Given the description of an element on the screen output the (x, y) to click on. 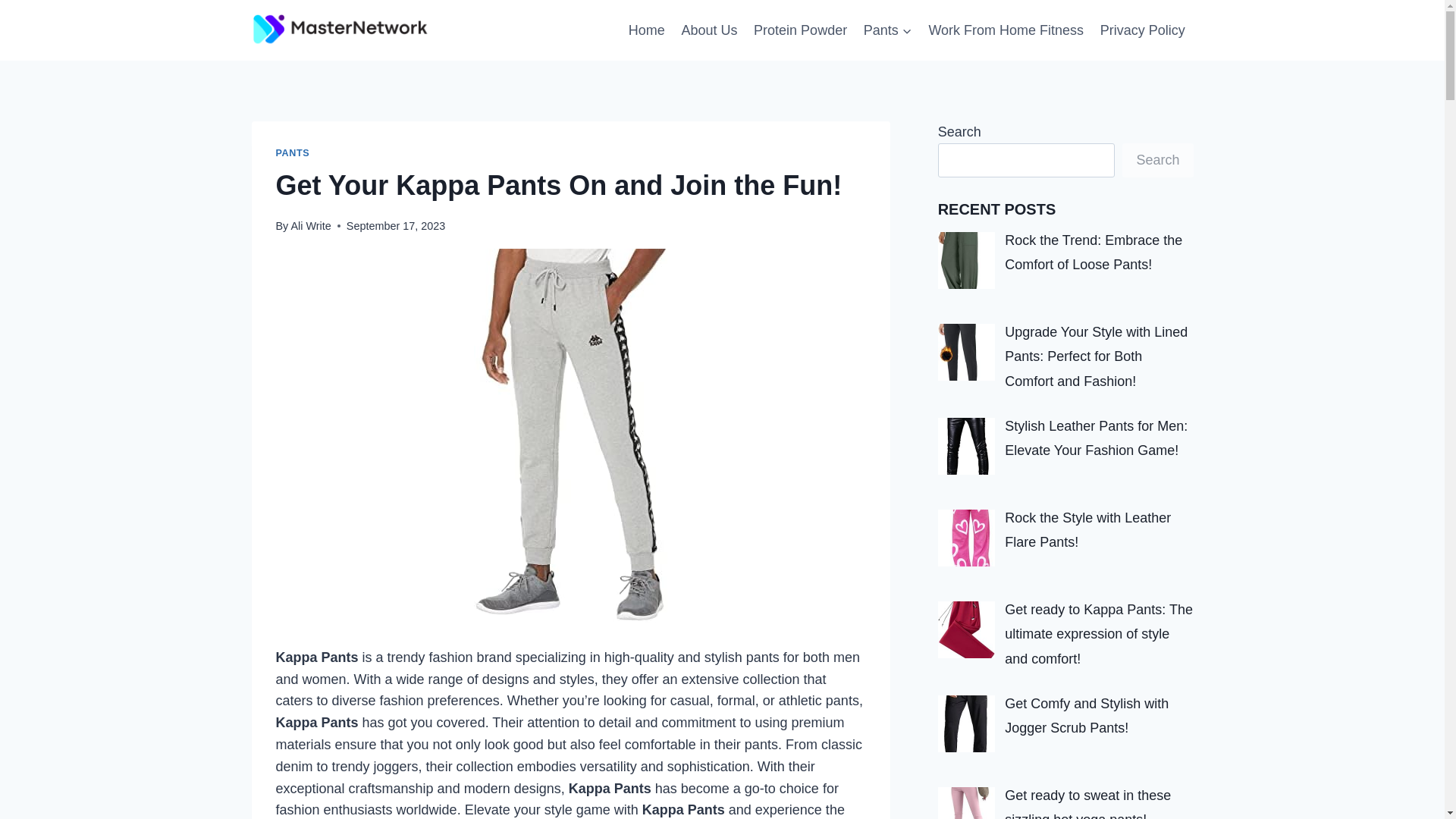
Home (646, 30)
PANTS (293, 153)
Work From Home Fitness (1006, 30)
About Us (708, 30)
Protein Powder (800, 30)
Ali Write (309, 225)
Privacy Policy (1142, 30)
Pants (888, 30)
